Given the description of an element on the screen output the (x, y) to click on. 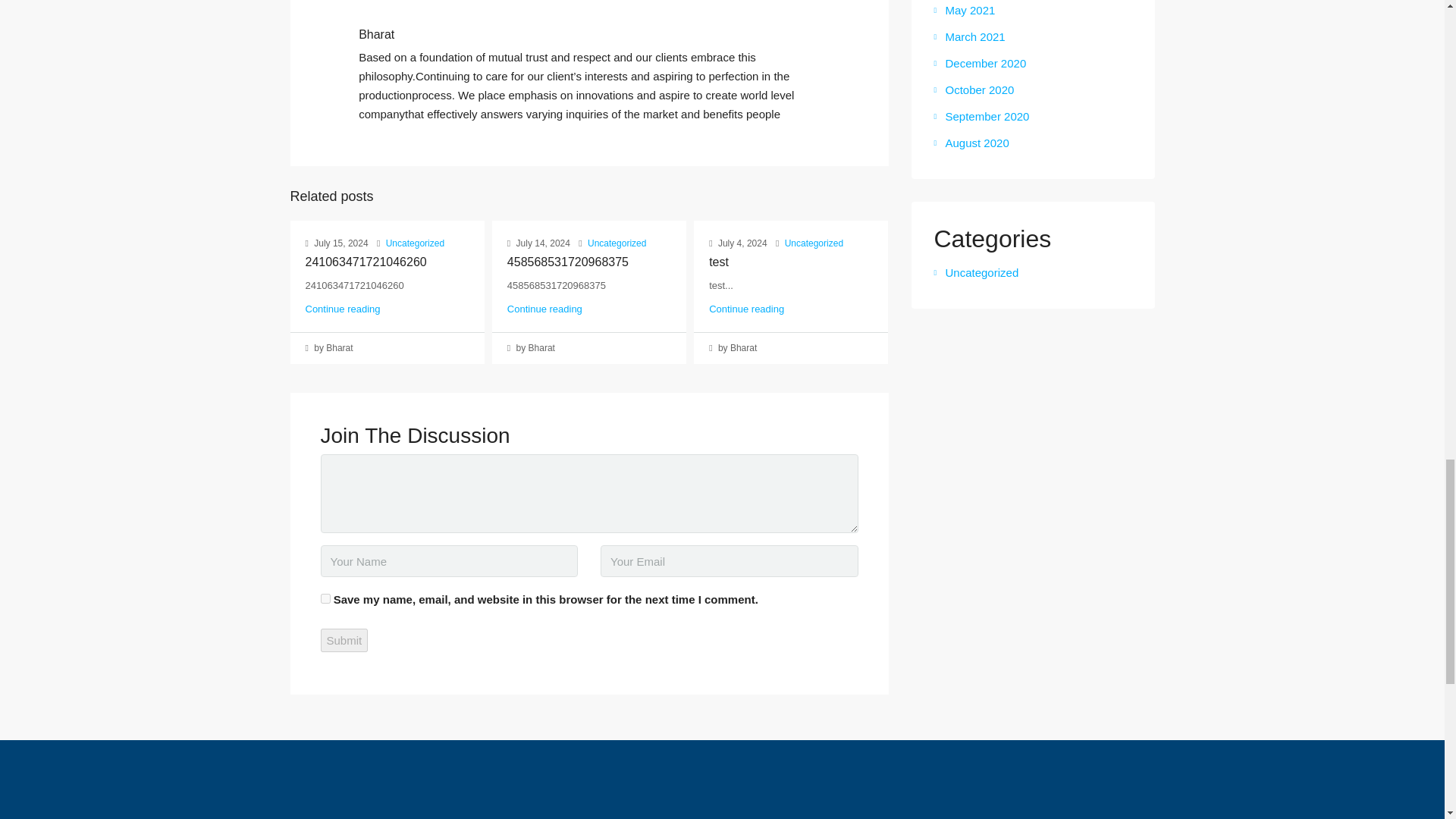
Submit (344, 639)
yes (325, 598)
